Given the description of an element on the screen output the (x, y) to click on. 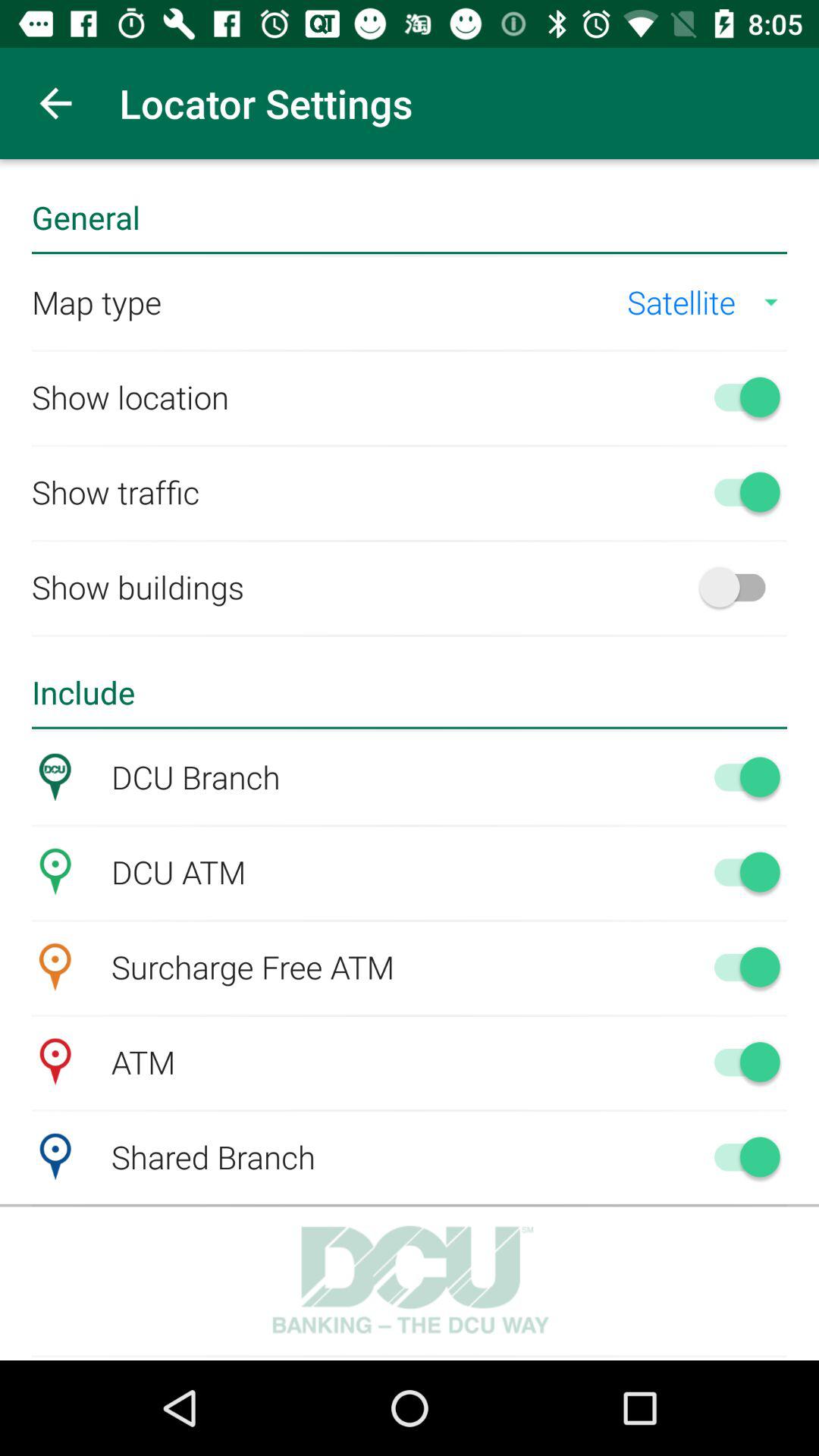
turn on dcu branch (739, 776)
